Given the description of an element on the screen output the (x, y) to click on. 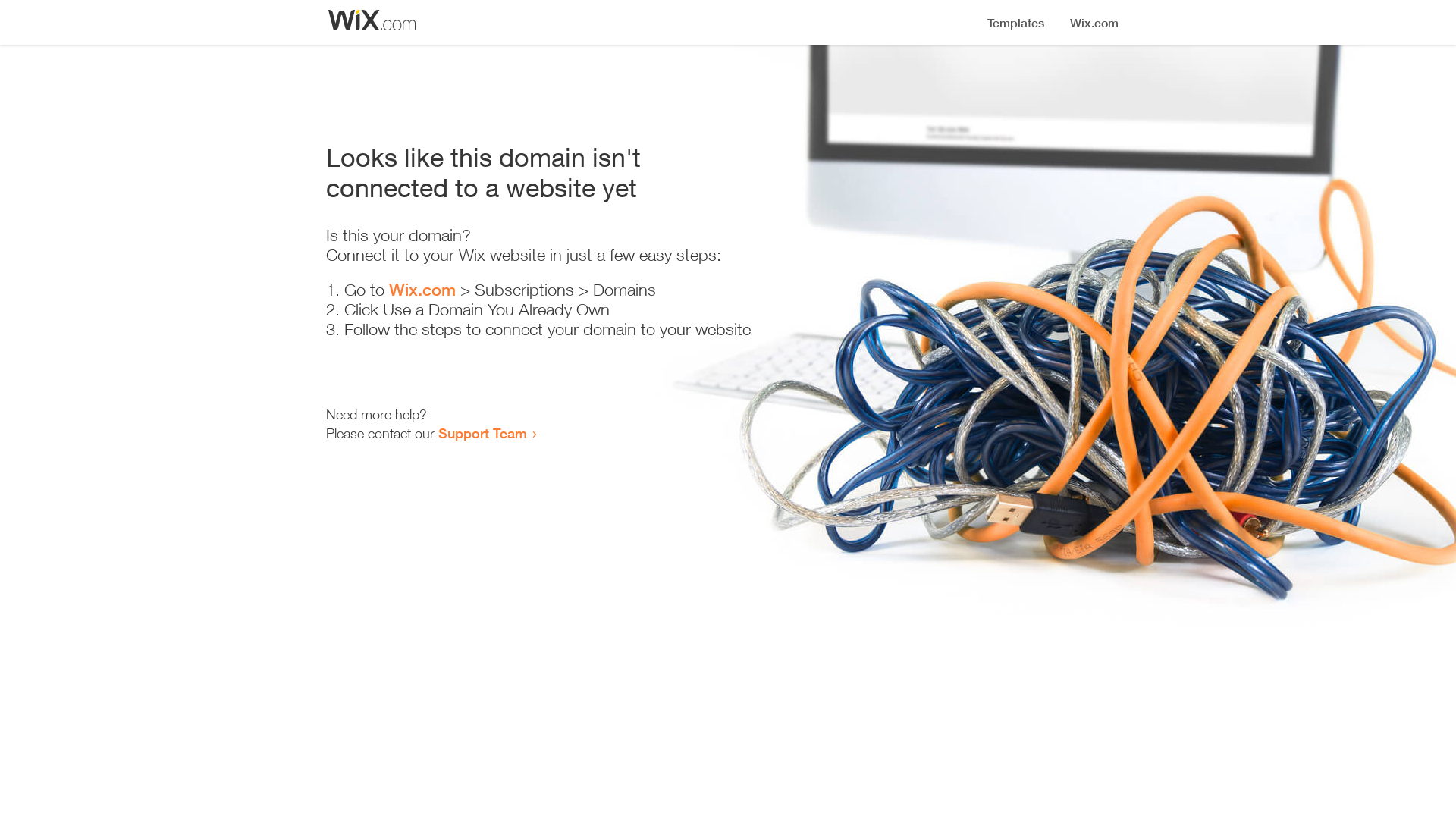
Support Team Element type: text (482, 432)
Wix.com Element type: text (422, 289)
